Given the description of an element on the screen output the (x, y) to click on. 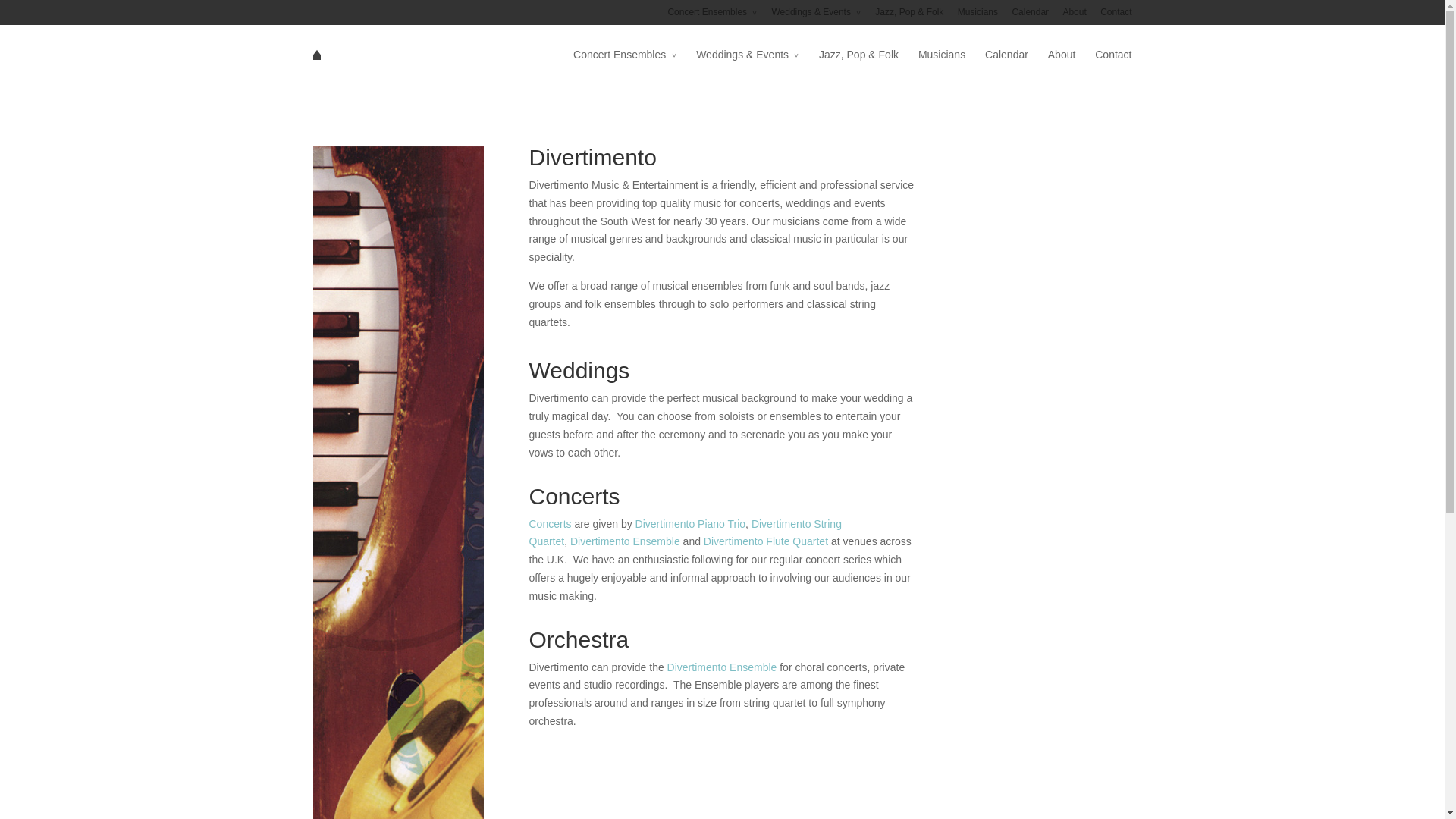
Contact (1115, 16)
Musicians (977, 16)
Calendar (1029, 16)
Contact (1112, 65)
About (1074, 16)
Concert Ensembles (625, 65)
Musicians (941, 65)
Concert Ensembles (711, 16)
Calendar (1006, 65)
About (1061, 65)
